Given the description of an element on the screen output the (x, y) to click on. 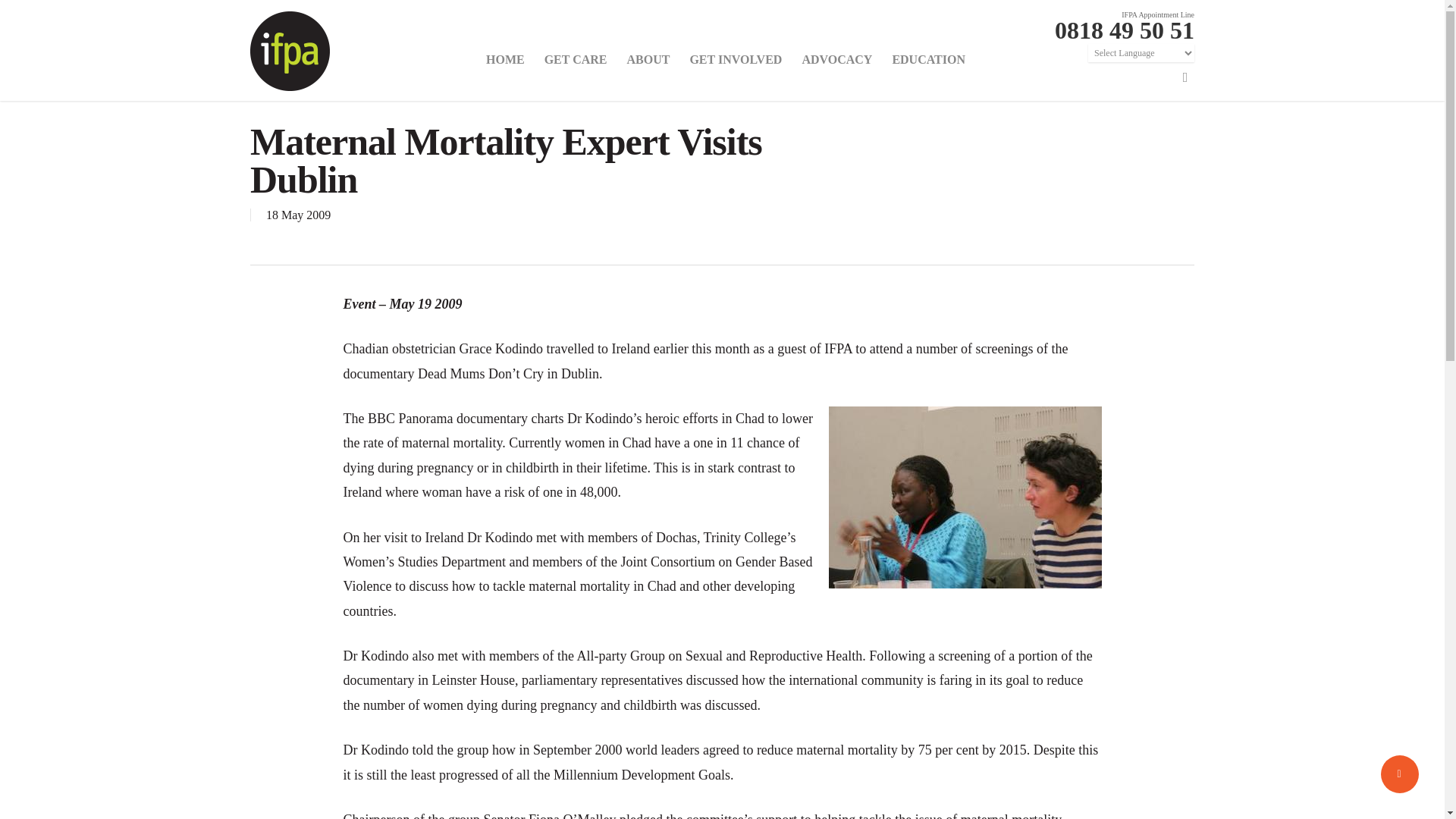
GET CARE (575, 69)
EDUCATION (928, 69)
ADVOCACY (837, 69)
GET INVOLVED (734, 69)
